Given the description of an element on the screen output the (x, y) to click on. 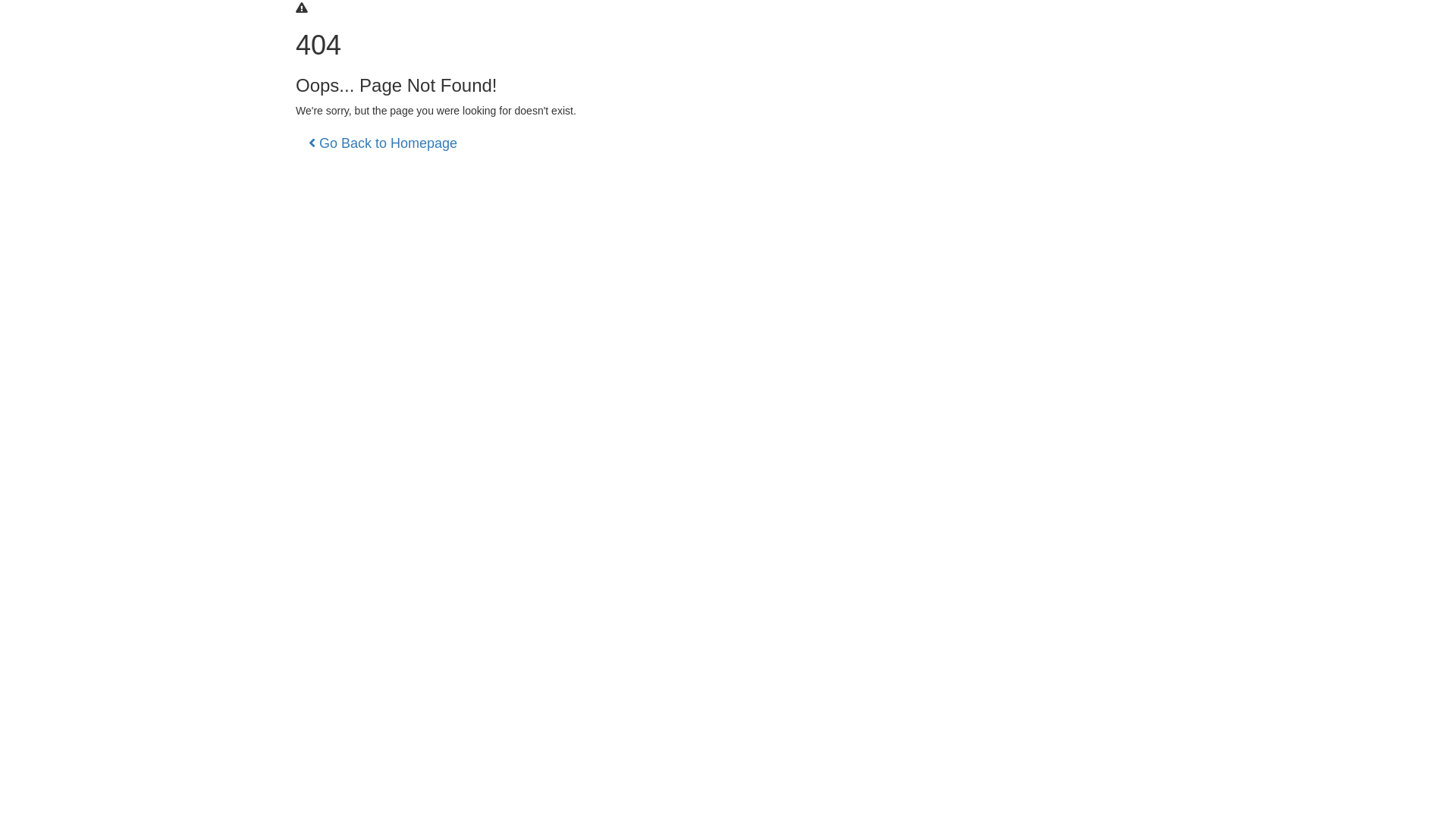
Go Back to Homepage Element type: text (382, 142)
